Given the description of an element on the screen output the (x, y) to click on. 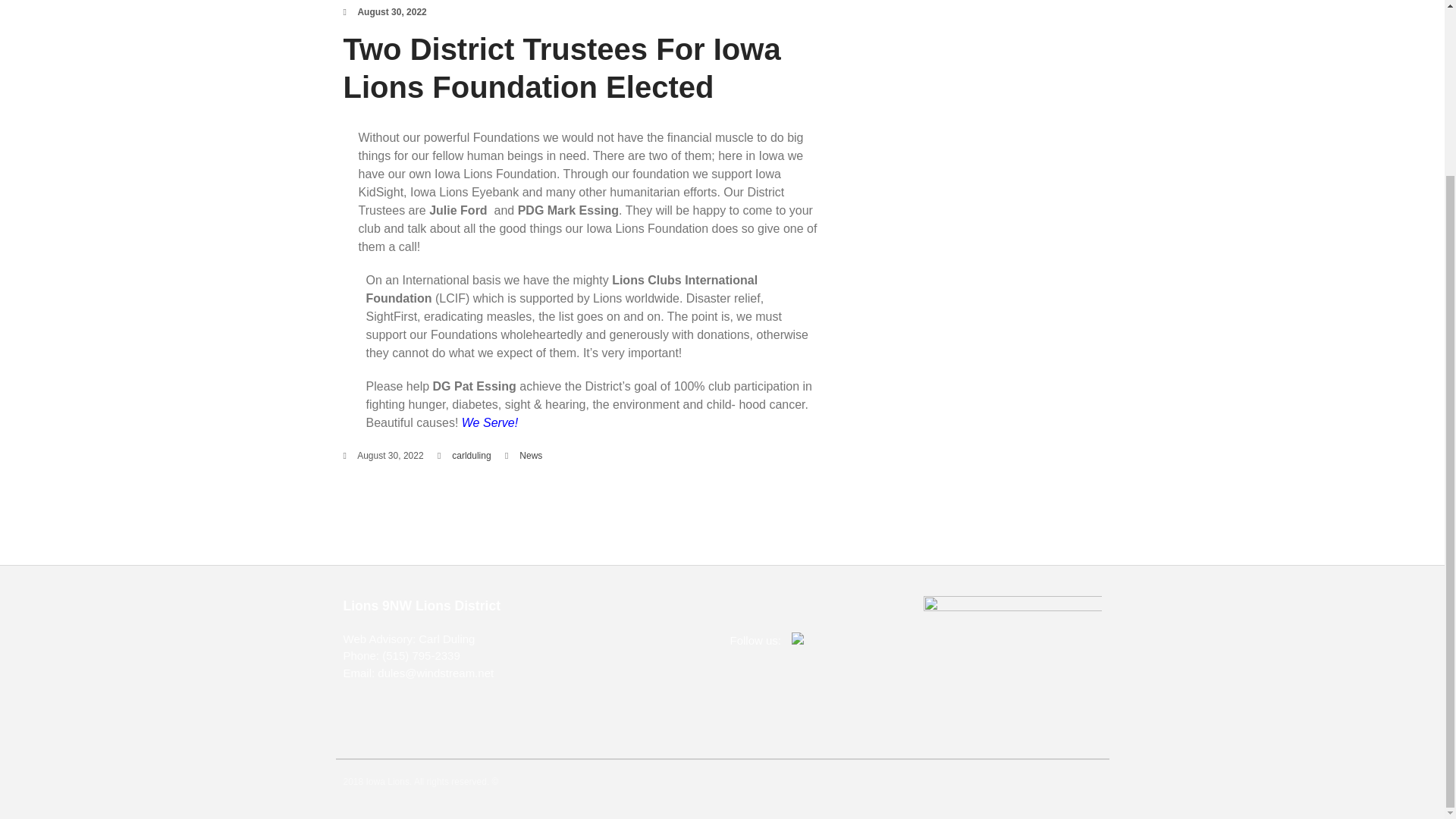
Page 1 (593, 351)
carlduling (470, 455)
View all posts in News (530, 455)
News (530, 455)
View all posts by carlduling (470, 455)
